Given the description of an element on the screen output the (x, y) to click on. 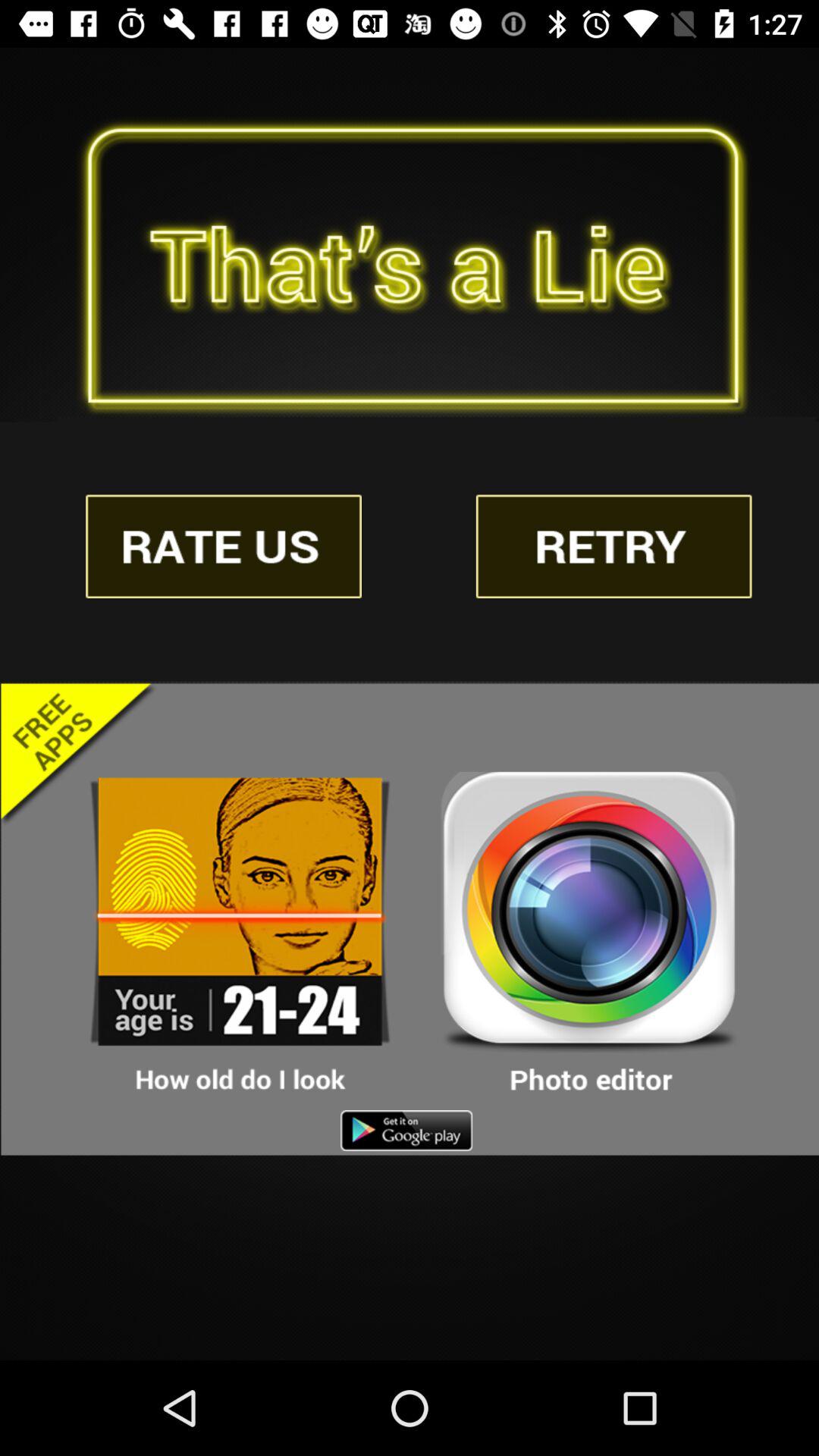
go to photo editor app (589, 933)
